Given the description of an element on the screen output the (x, y) to click on. 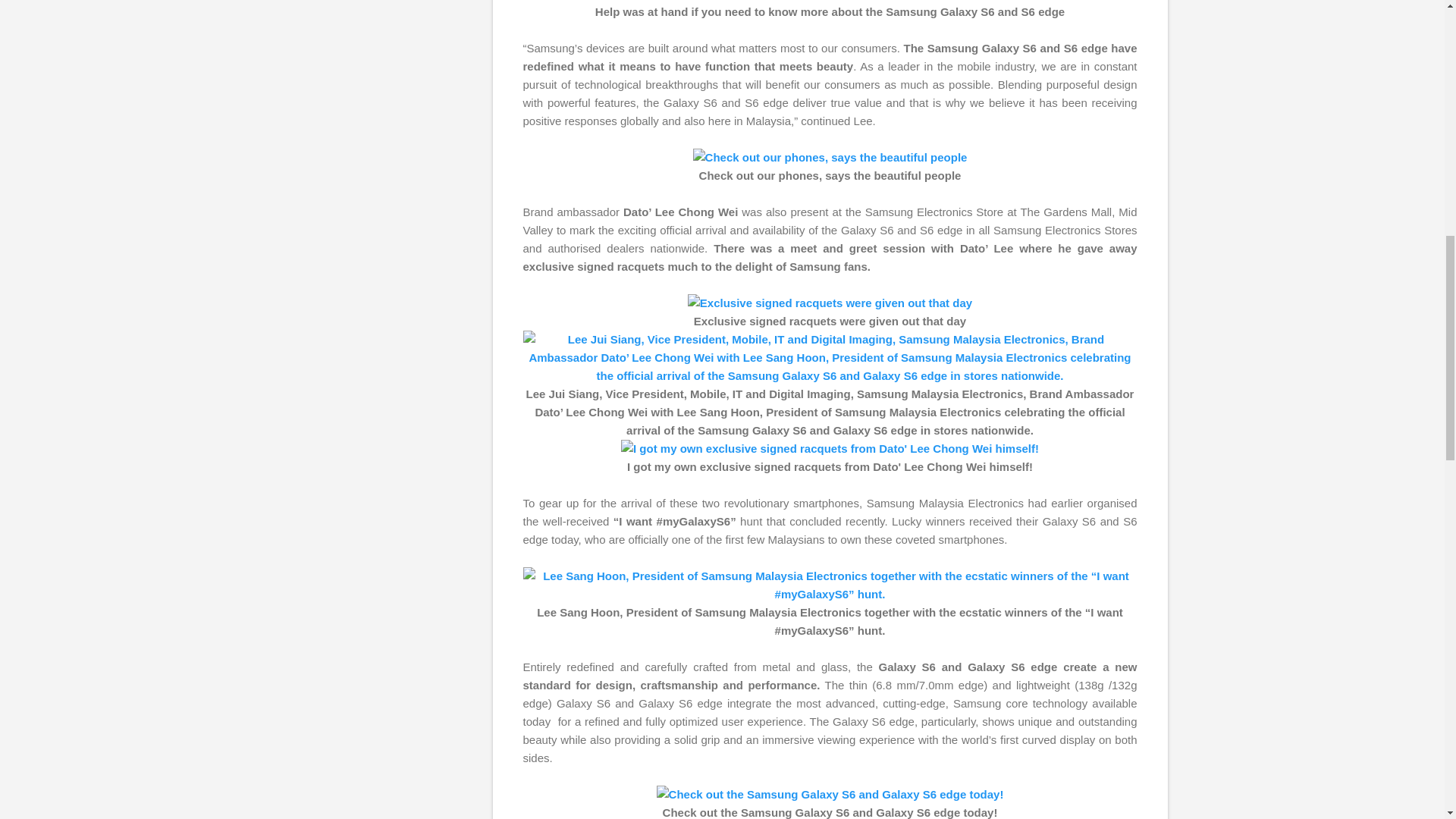
Exclusive signed racquets were given out that day (829, 303)
Check out our phones, says the beautiful people (830, 157)
